Given the description of an element on the screen output the (x, y) to click on. 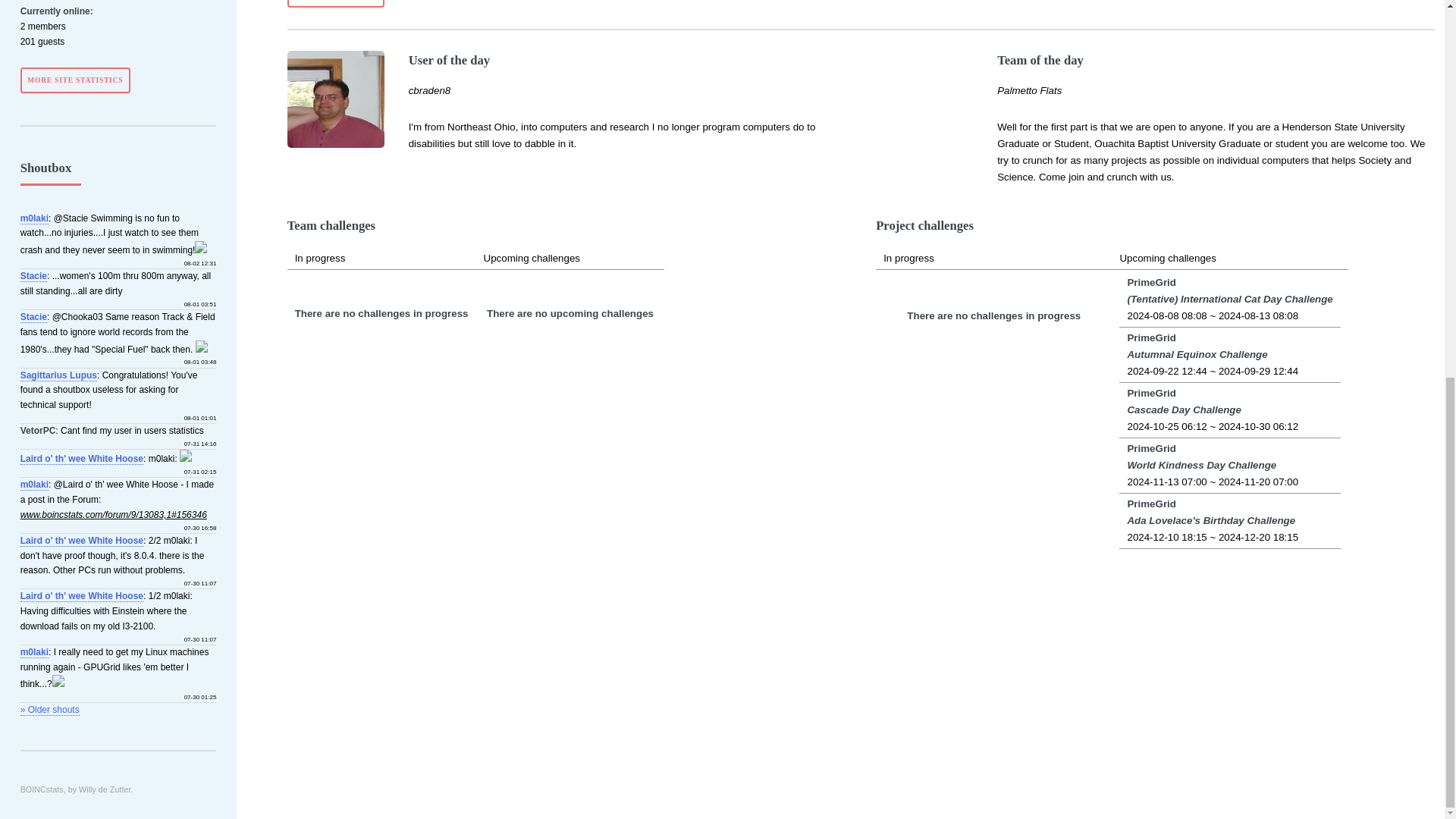
READ COMMENTS (335, 3)
